Given the description of an element on the screen output the (x, y) to click on. 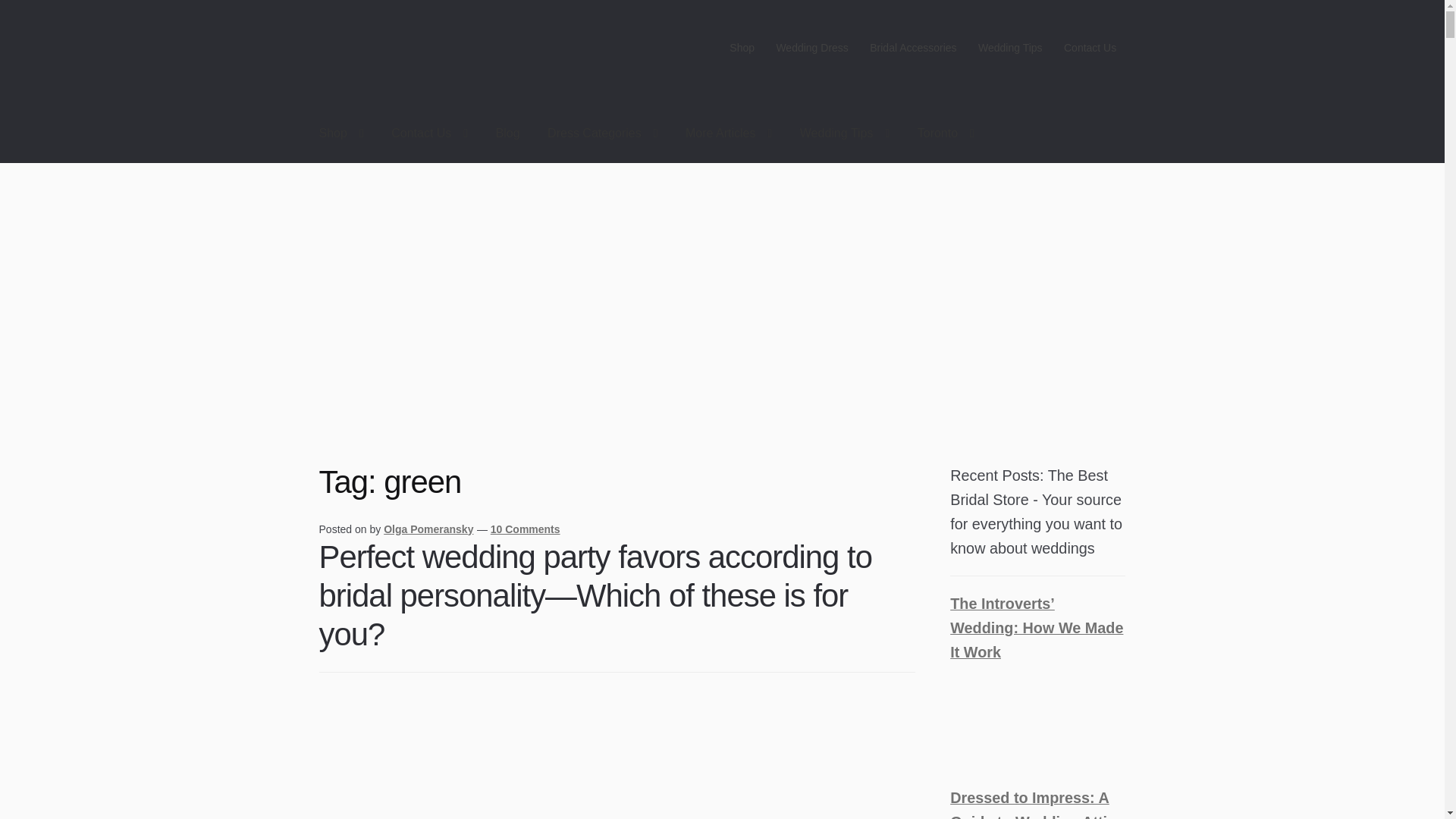
Contact Us (1089, 47)
Shop (341, 133)
More Articles (728, 133)
Dress Categories (602, 133)
Bridal Accessories (913, 47)
Contact Us (429, 133)
Wedding Tips (1010, 47)
Wedding Dress (812, 47)
Shop (741, 47)
